Given the description of an element on the screen output the (x, y) to click on. 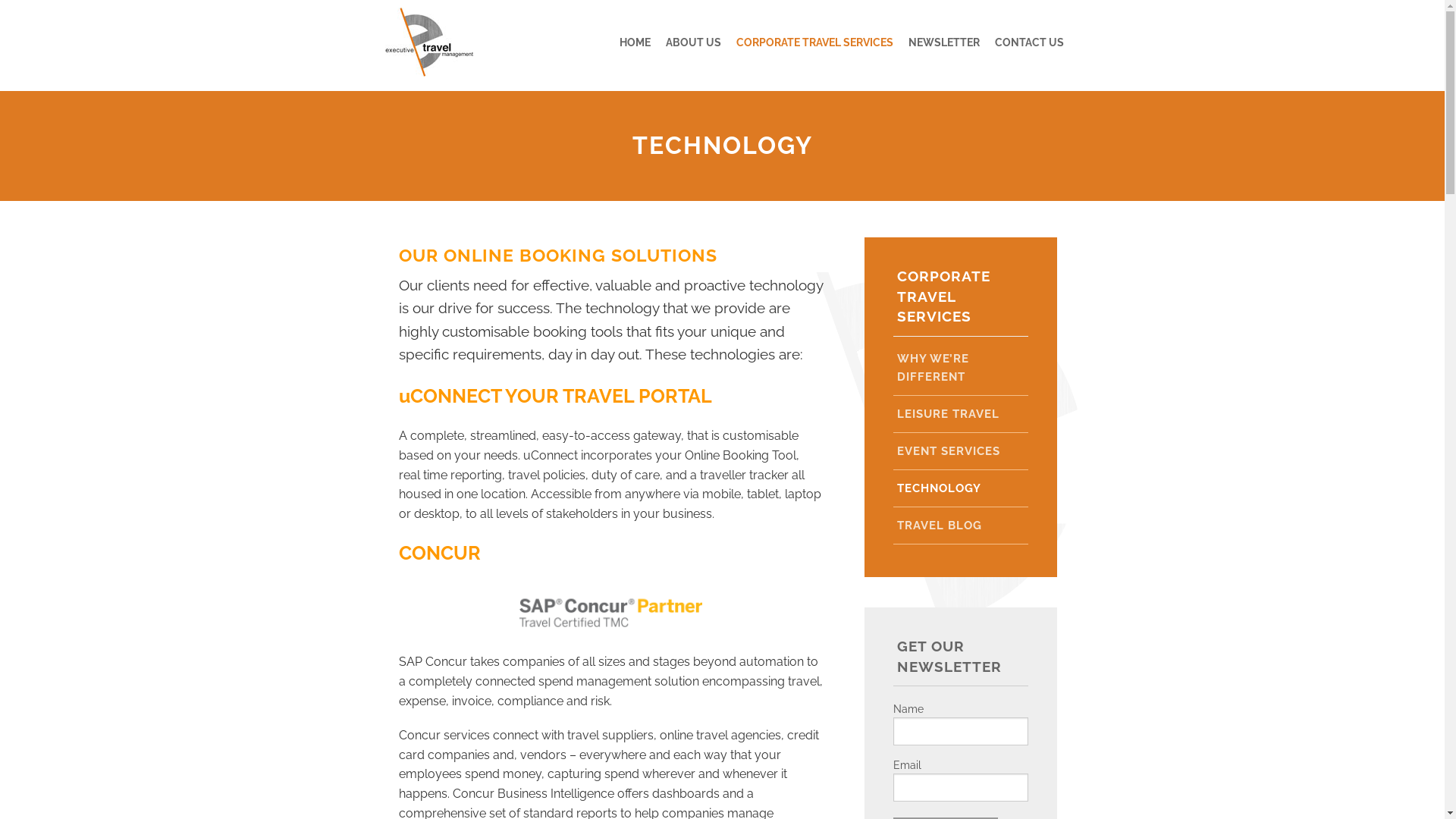
Executive Travel Management Element type: hover (429, 44)
LEISURE TRAVEL Element type: text (960, 414)
NEWSLETTER Element type: text (943, 42)
TRAVEL BLOG Element type: text (960, 525)
CONTACT US Element type: text (1029, 42)
TECHNOLOGY Element type: text (960, 488)
CORPORATE TRAVEL SERVICES Element type: text (943, 295)
HOME Element type: text (634, 42)
ABOUT US Element type: text (693, 42)
CORPORATE TRAVEL SERVICES Element type: text (814, 42)
EVENT SERVICES Element type: text (960, 451)
